Given the description of an element on the screen output the (x, y) to click on. 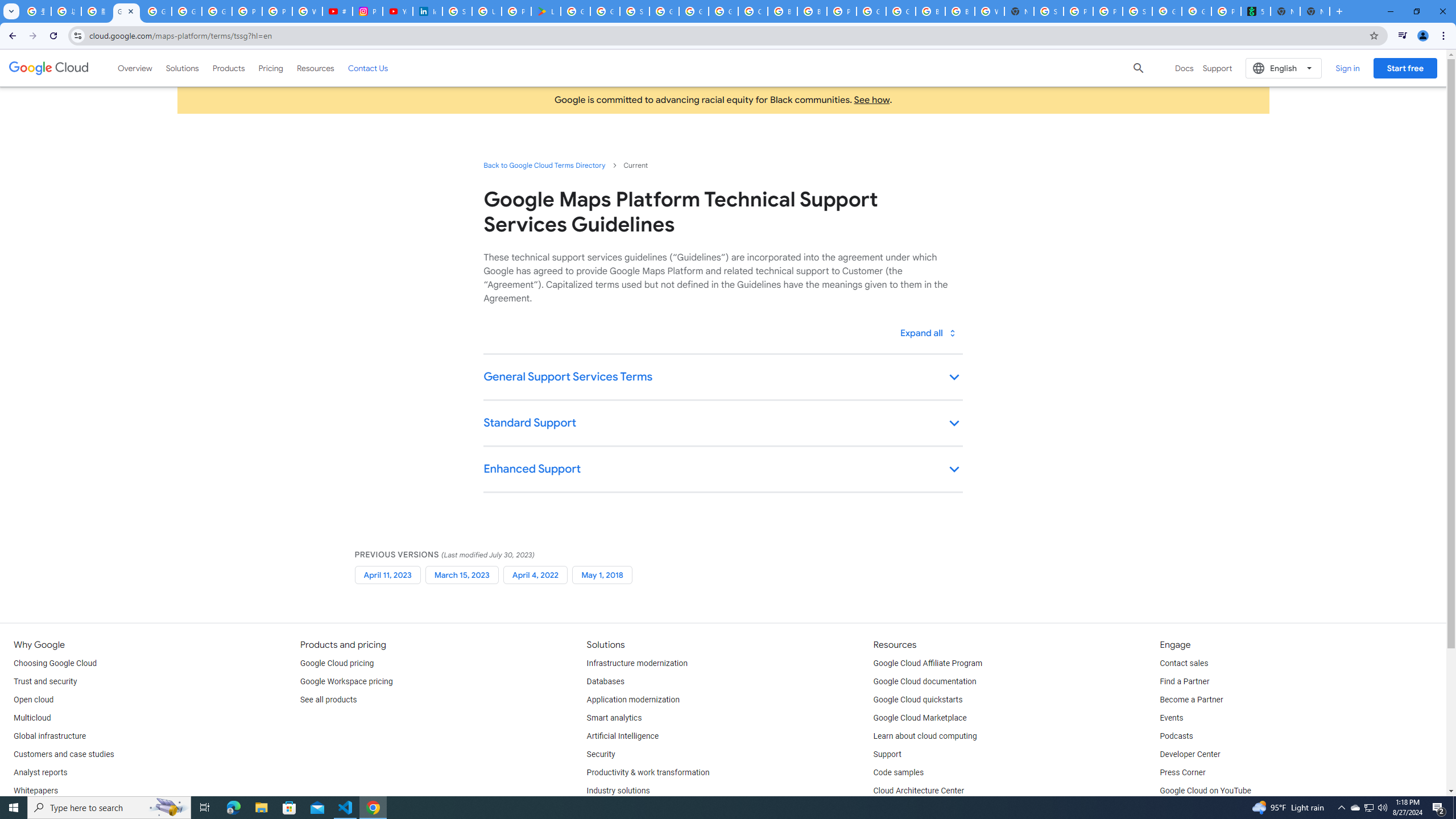
April 11, 2023 (386, 574)
Docs (1183, 67)
Google Cloud Platform (871, 11)
Sign in - Google Accounts (1048, 11)
See how (871, 99)
Privacy Help Center - Policies Help (247, 11)
Code samples (898, 773)
Podcasts (1175, 736)
Pricing (270, 67)
